Given the description of an element on the screen output the (x, y) to click on. 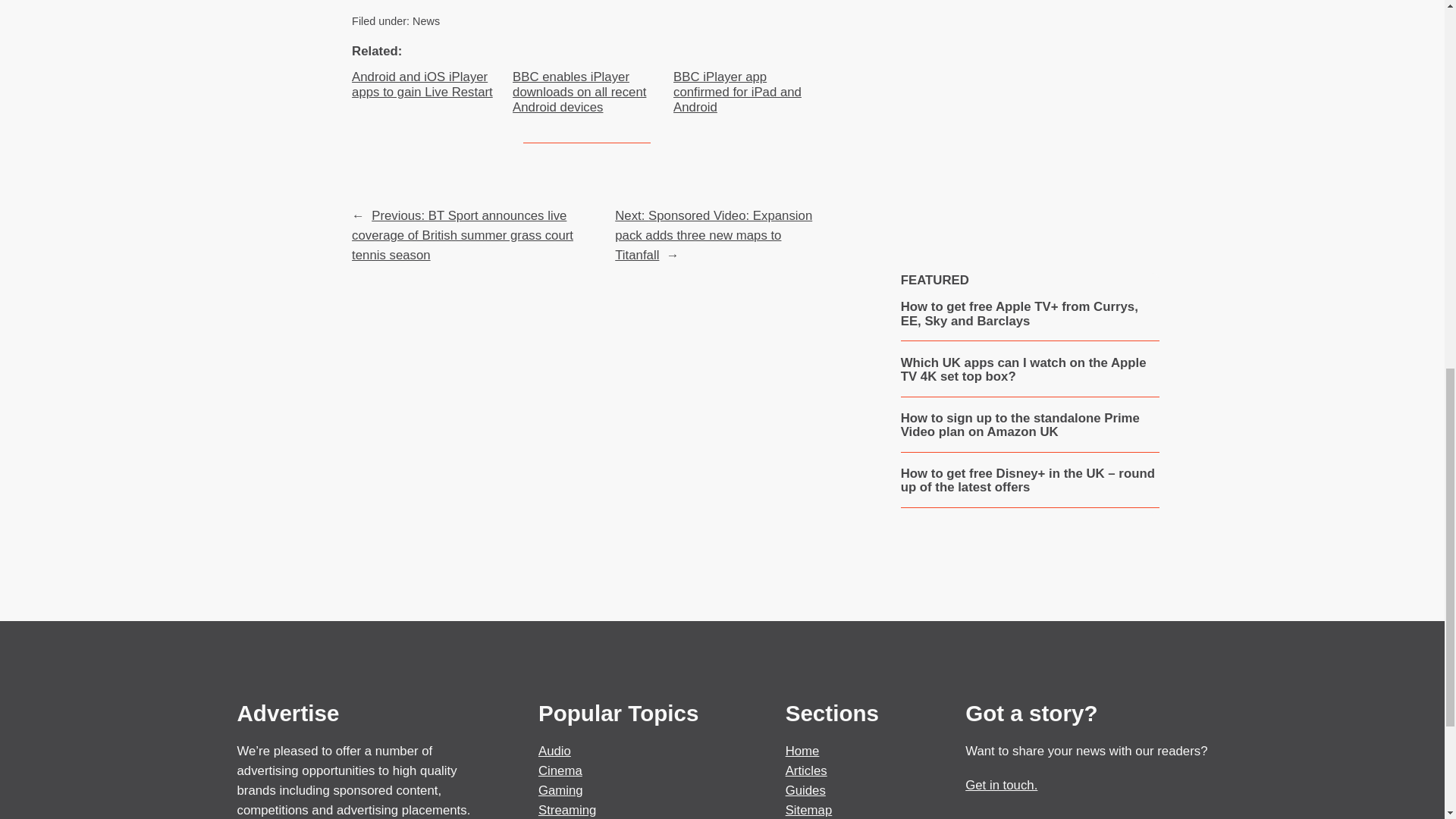
Audio (554, 750)
Android and iOS iPlayer apps to gain Live Restart (426, 84)
Streaming (566, 810)
Gaming (560, 789)
Sitemap (809, 810)
BBC enables iPlayer downloads on all recent Android devices (586, 92)
Home (802, 750)
News (425, 21)
Cinema (560, 770)
